Given the description of an element on the screen output the (x, y) to click on. 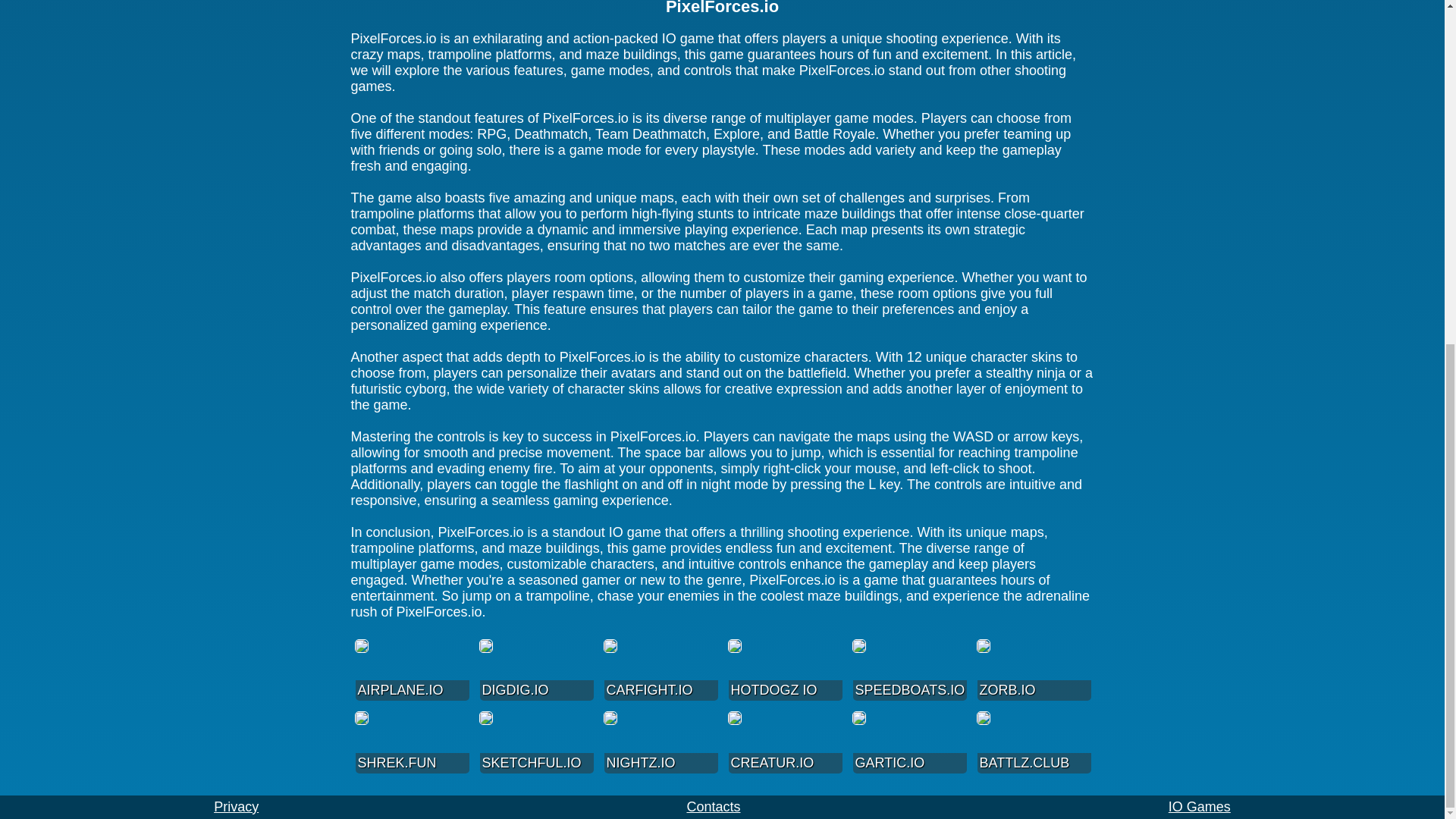
DIGDIG.IO (535, 671)
GARTIC.IO (908, 743)
SPEEDBOATS.IO (908, 671)
SHREK.FUN (411, 743)
CREATUR.IO (784, 743)
AIRPLANE.IO (411, 671)
NIGHTZ.IO (660, 743)
ZORB.IO (1033, 671)
CARFIGHT.IO (660, 671)
BATTLZ.CLUB (1033, 743)
SKETCHFUL.IO (535, 743)
HOTDOGZ IO (784, 671)
